Given the description of an element on the screen output the (x, y) to click on. 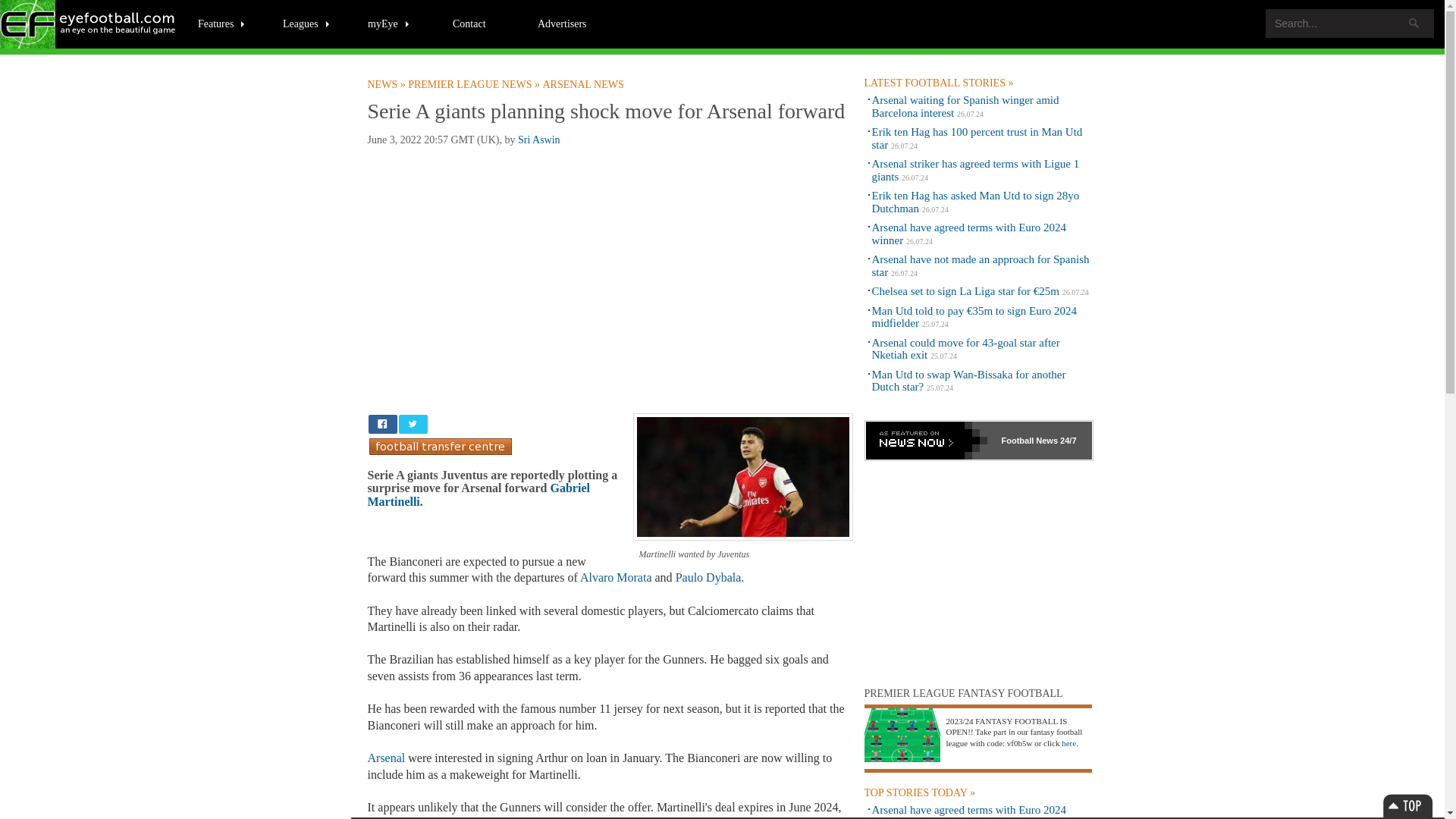
Gabriel Martinelli (477, 494)
Arsenal (385, 757)
Search... (1349, 23)
ARSENAL NEWS (583, 84)
Paulo Dybala (708, 576)
Advertisers (561, 23)
Contact (469, 23)
Premier League news (474, 84)
Sri Aswin (539, 139)
Alvaro Morata (615, 576)
Football News (88, 24)
Search (1414, 22)
Search (1414, 22)
myEye (389, 23)
Features (221, 23)
